Given the description of an element on the screen output the (x, y) to click on. 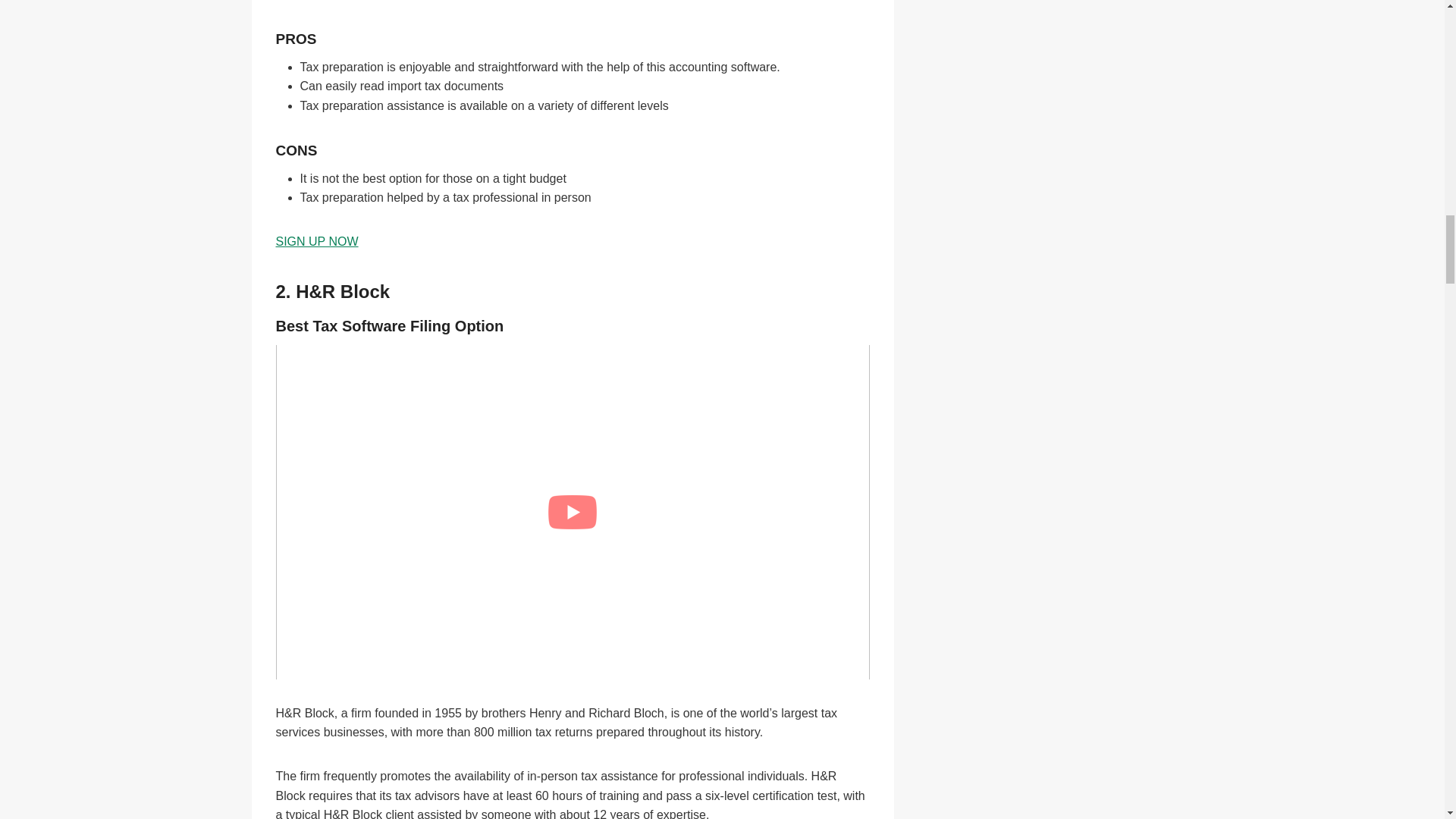
SIGN UP NOW (317, 241)
